Given the description of an element on the screen output the (x, y) to click on. 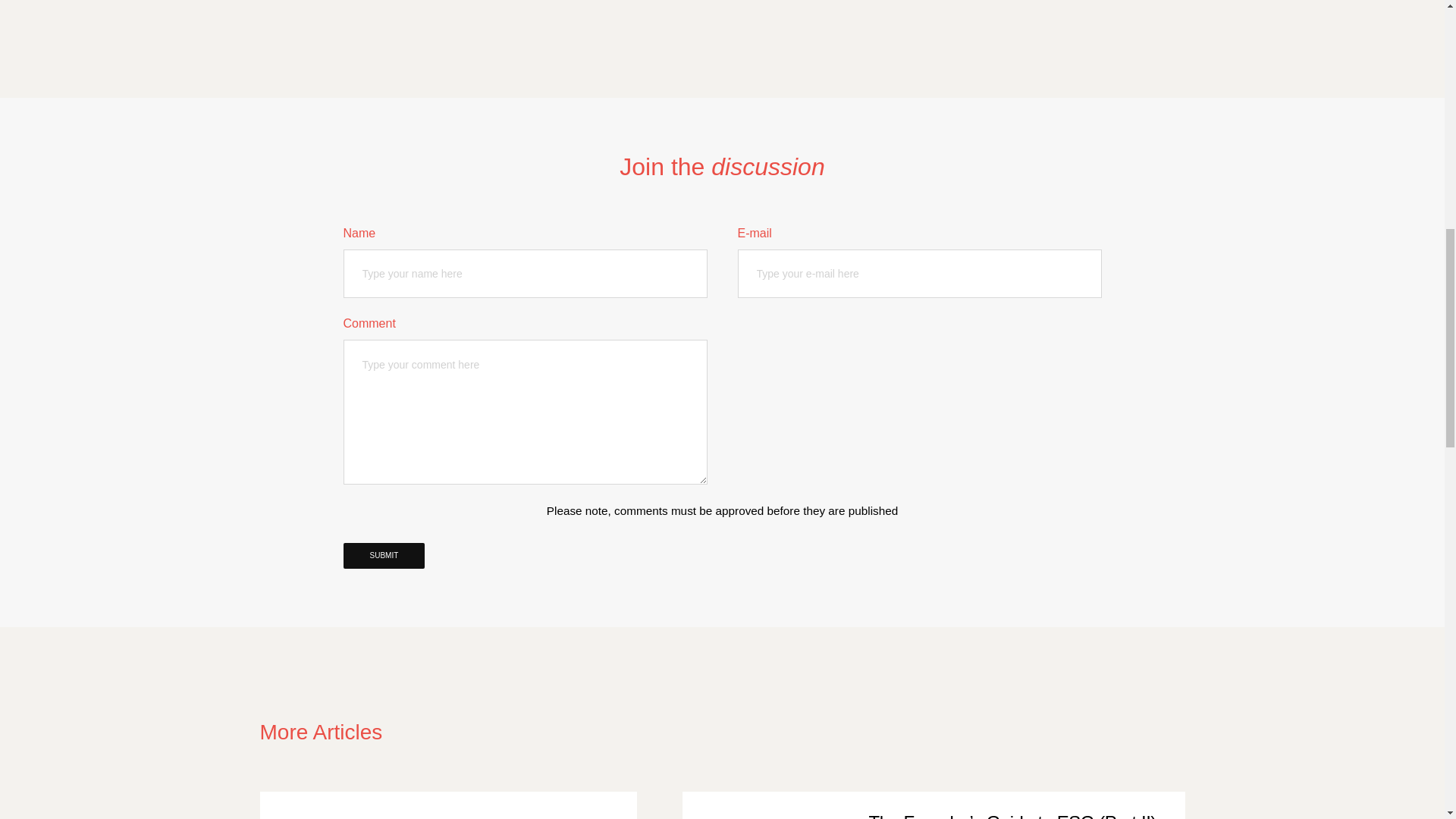
SUBMIT (383, 555)
